Given the description of an element on the screen output the (x, y) to click on. 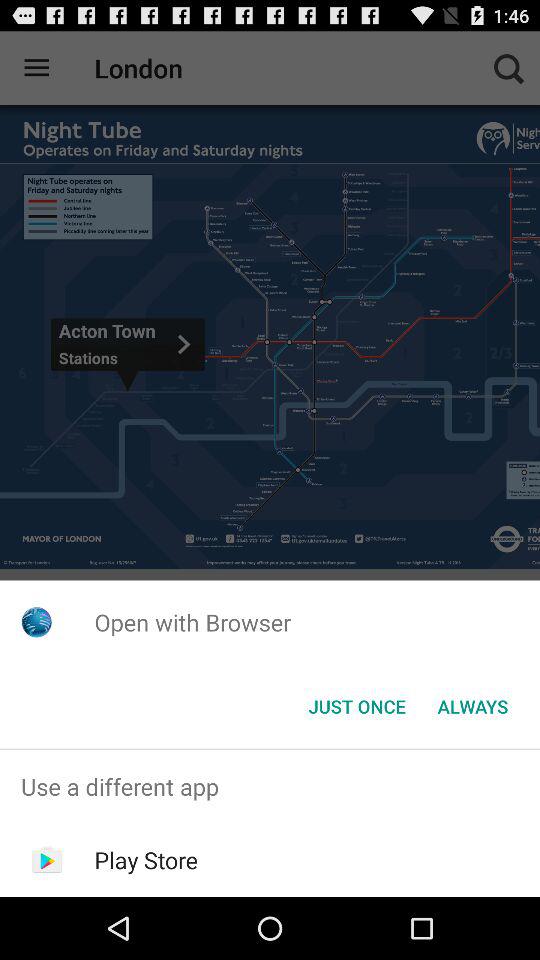
click the just once item (356, 706)
